Given the description of an element on the screen output the (x, y) to click on. 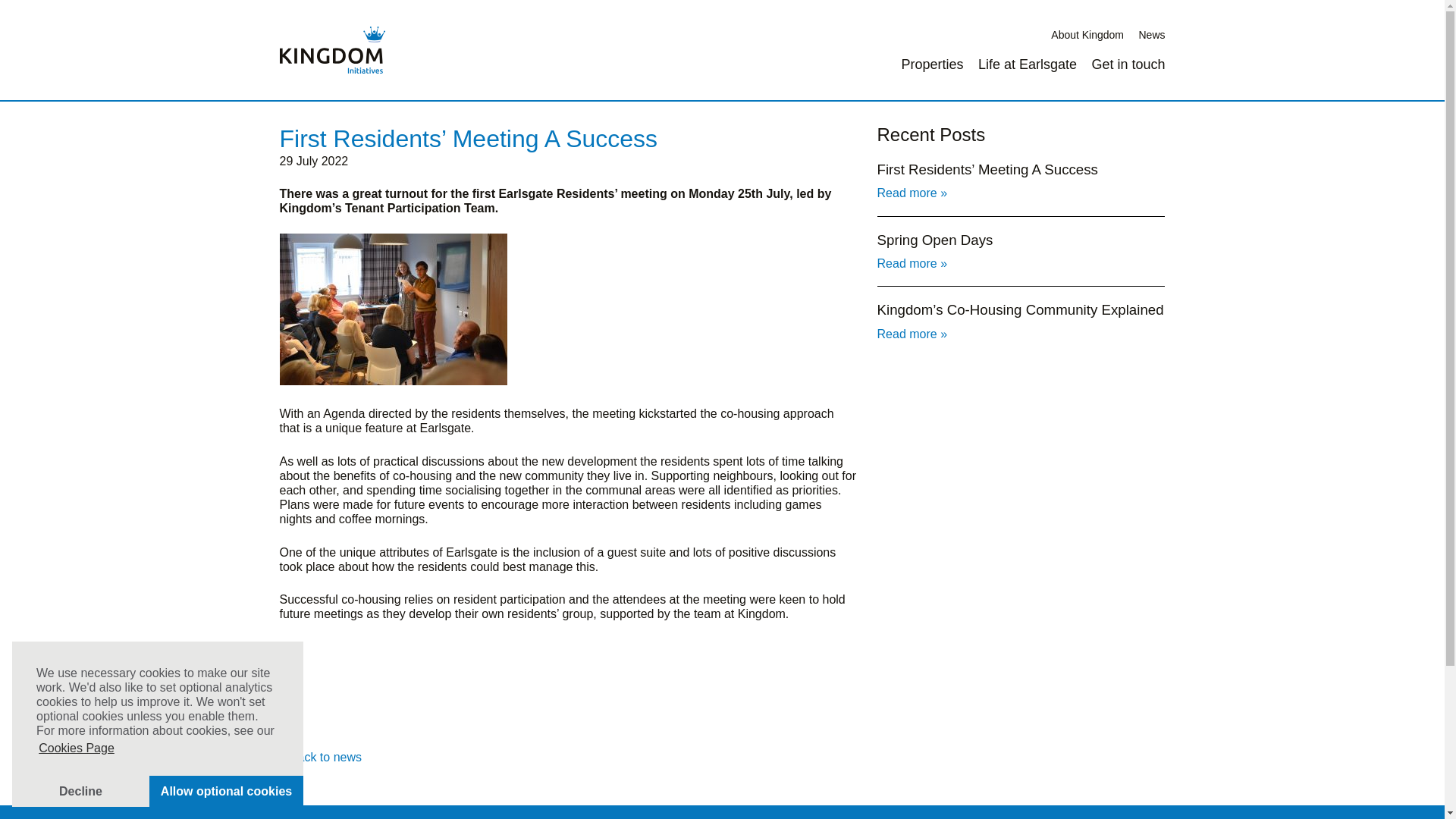
About Kingdom (1087, 34)
Get in touch (1127, 64)
Properties (931, 64)
Life at Earlsgate (1027, 64)
Cookies Page (76, 748)
Decline (80, 790)
Allow optional cookies (225, 790)
News (1151, 34)
